Given the description of an element on the screen output the (x, y) to click on. 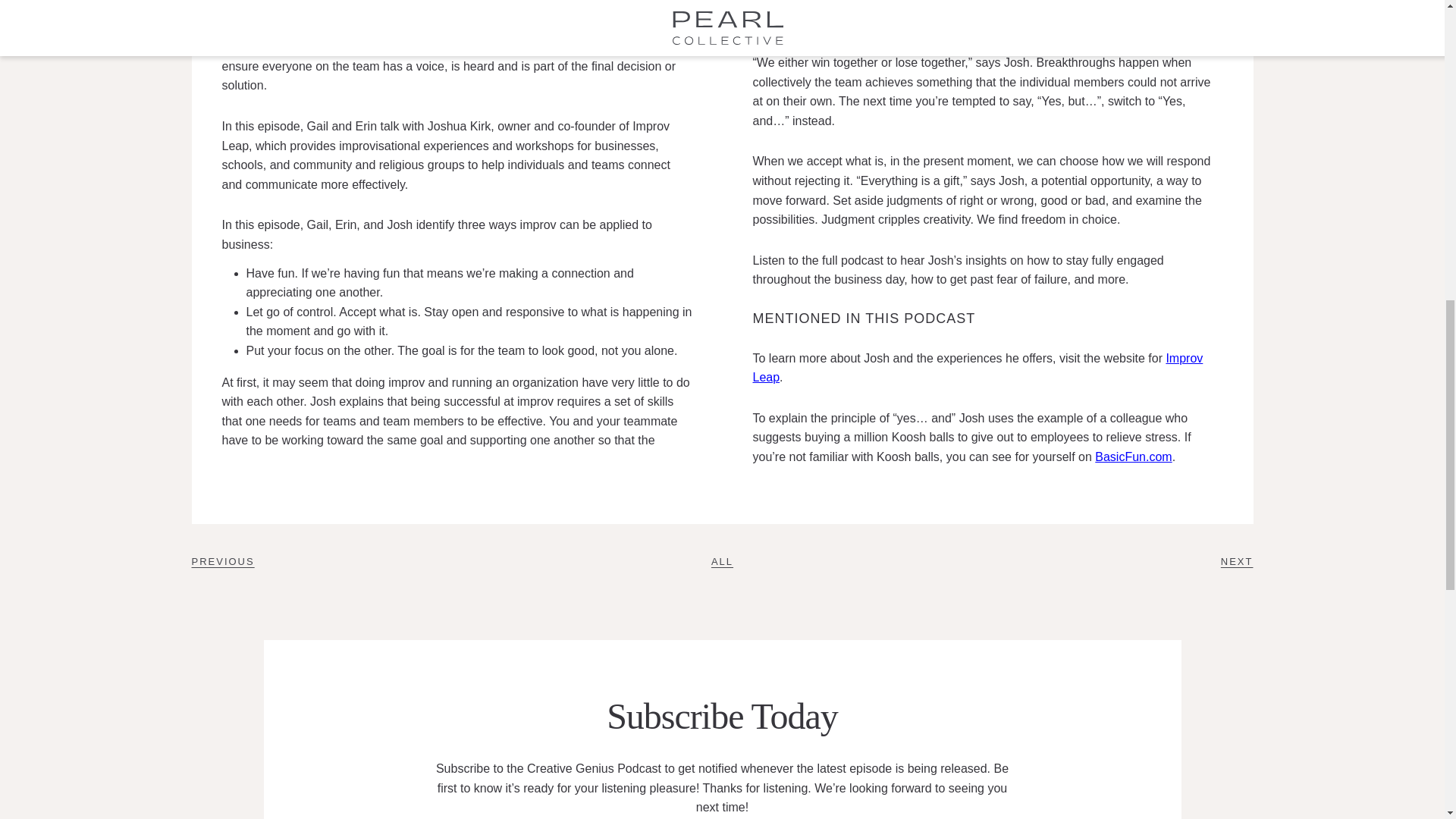
Improv Leap (977, 368)
Play in new window (348, 8)
Download (460, 8)
PLAY IN NEW WINDOW (348, 8)
PREVIOUS (221, 561)
BasicFun.com (1133, 456)
ALL (722, 561)
NEXT (1237, 561)
DOWNLOAD (460, 8)
